Given the description of an element on the screen output the (x, y) to click on. 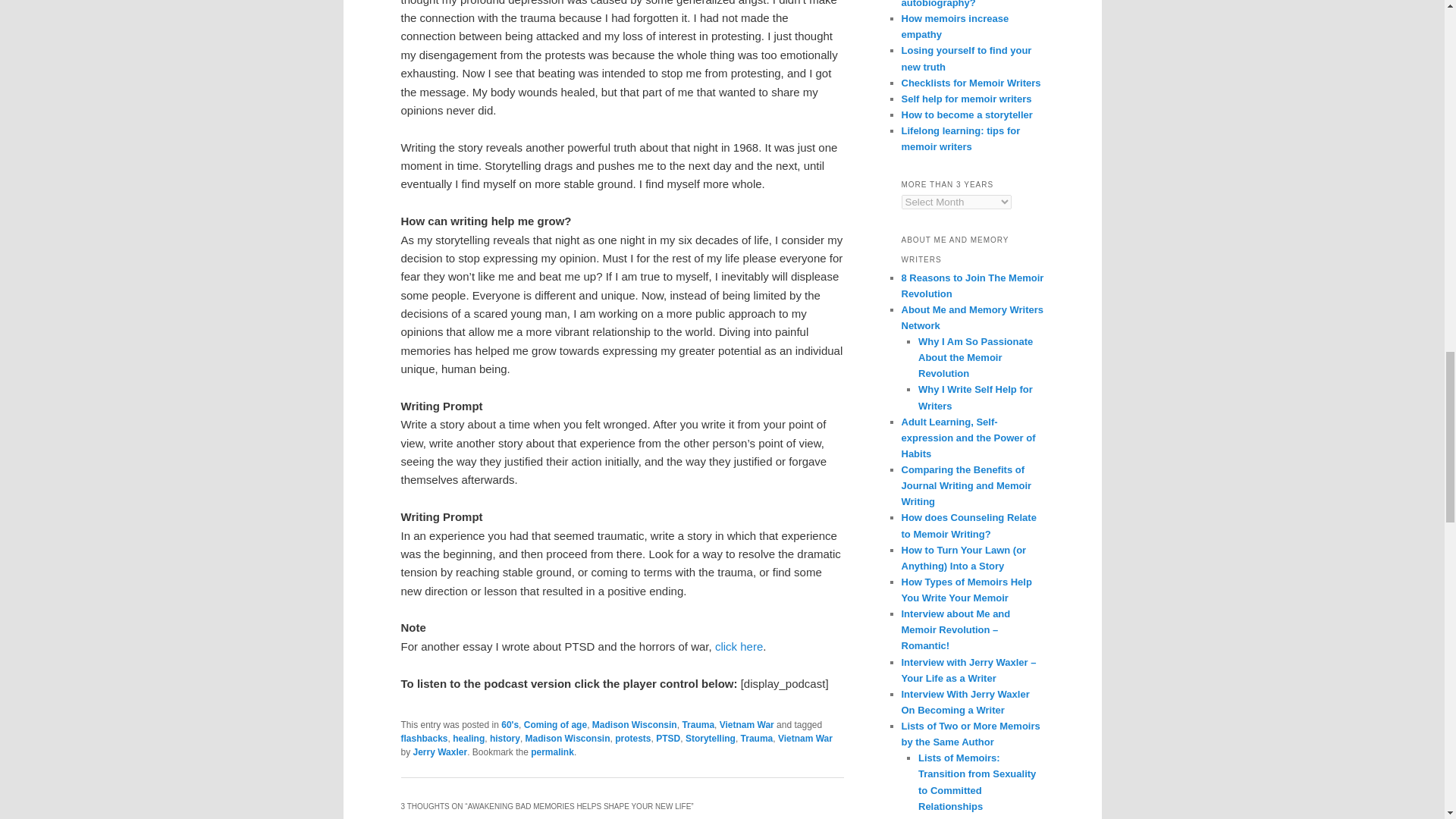
Vietnam War (746, 724)
PTSD, Achilles, and the horrors of war (738, 645)
Madison Wisconsin (634, 724)
flashbacks (423, 738)
Coming of age (555, 724)
click here (738, 645)
Trauma (697, 724)
60's (509, 724)
healing (468, 738)
